Given the description of an element on the screen output the (x, y) to click on. 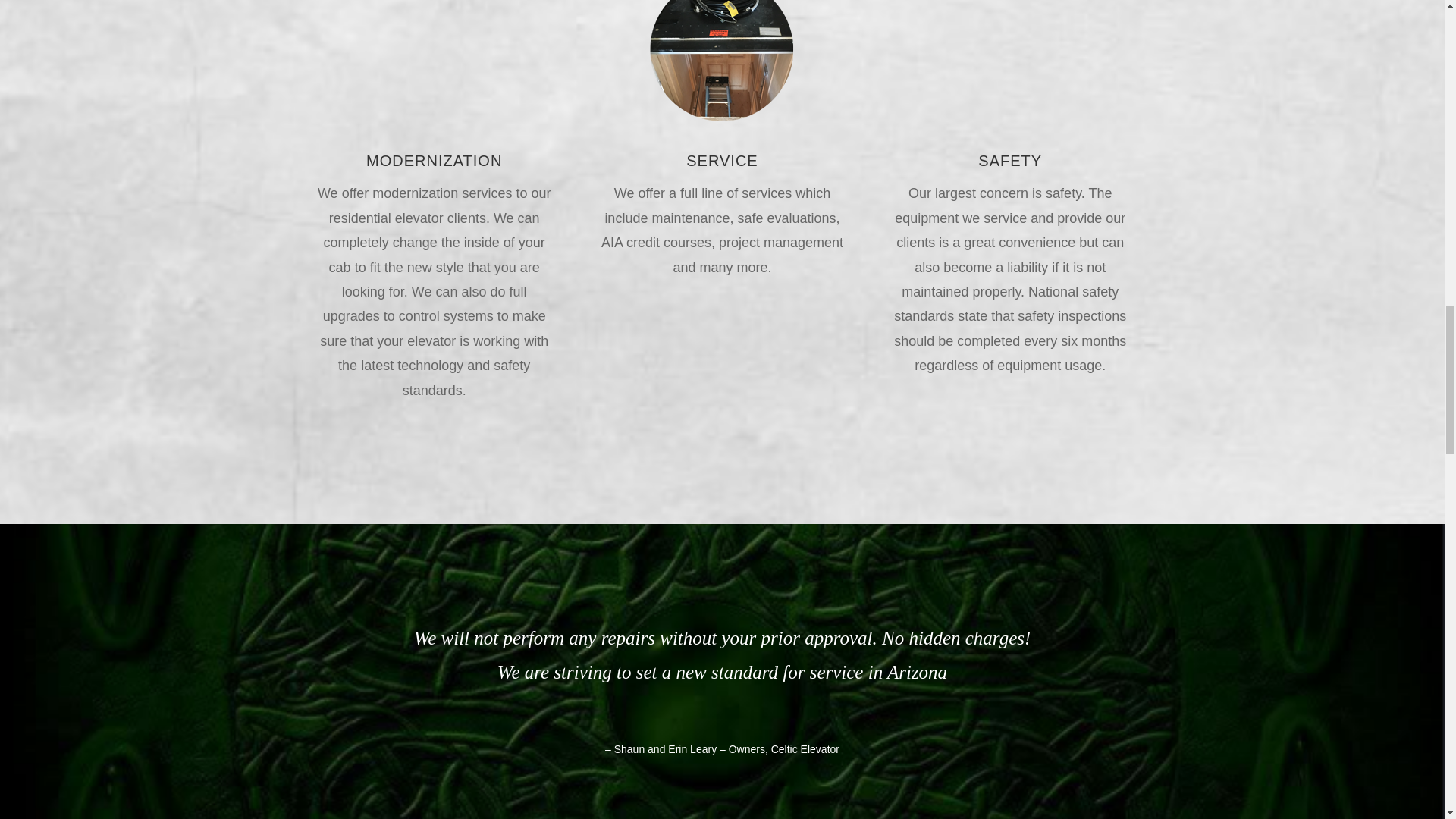
Home 5 (721, 62)
